Given the description of an element on the screen output the (x, y) to click on. 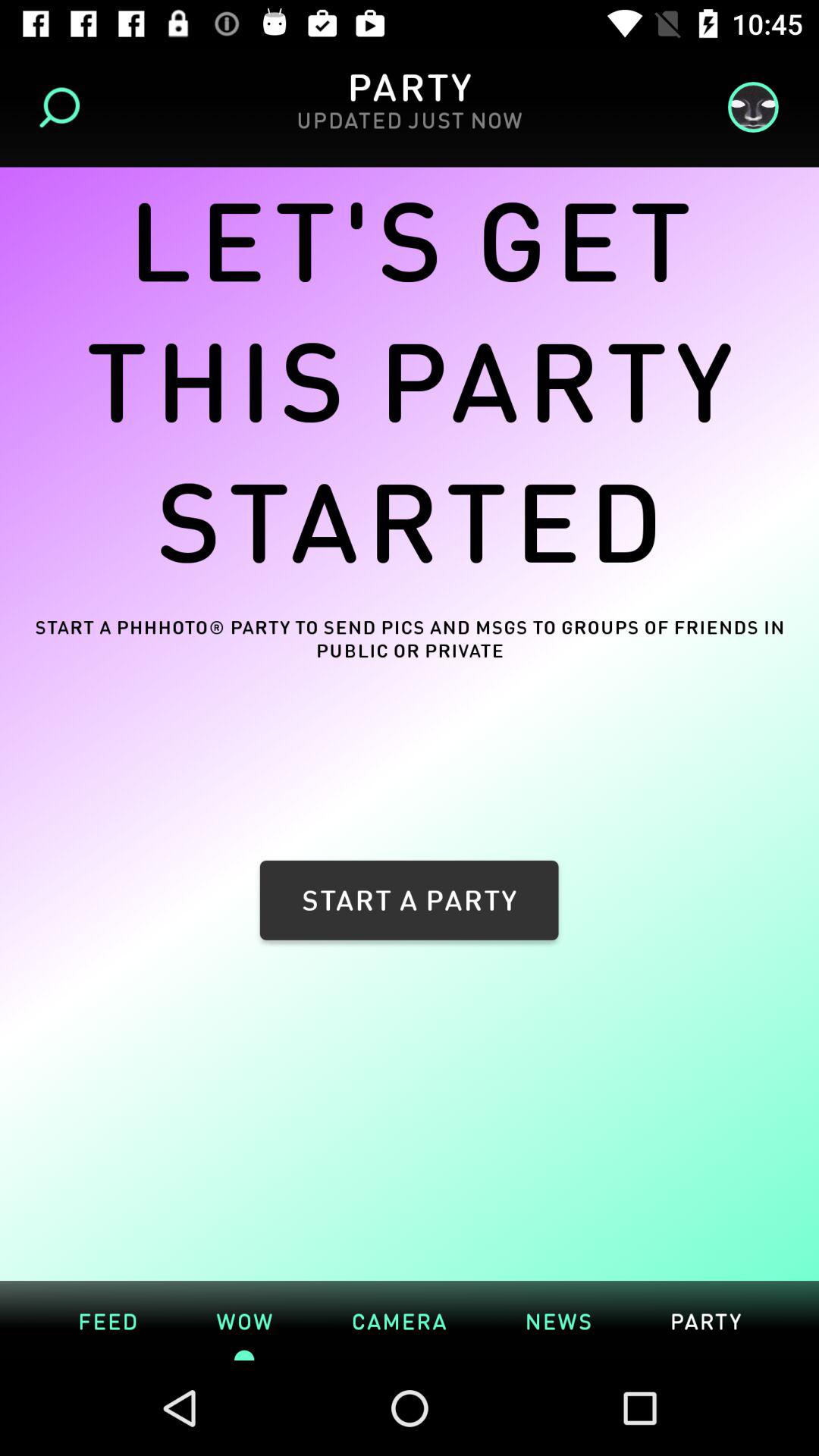
jump until feed icon (107, 1320)
